Given the description of an element on the screen output the (x, y) to click on. 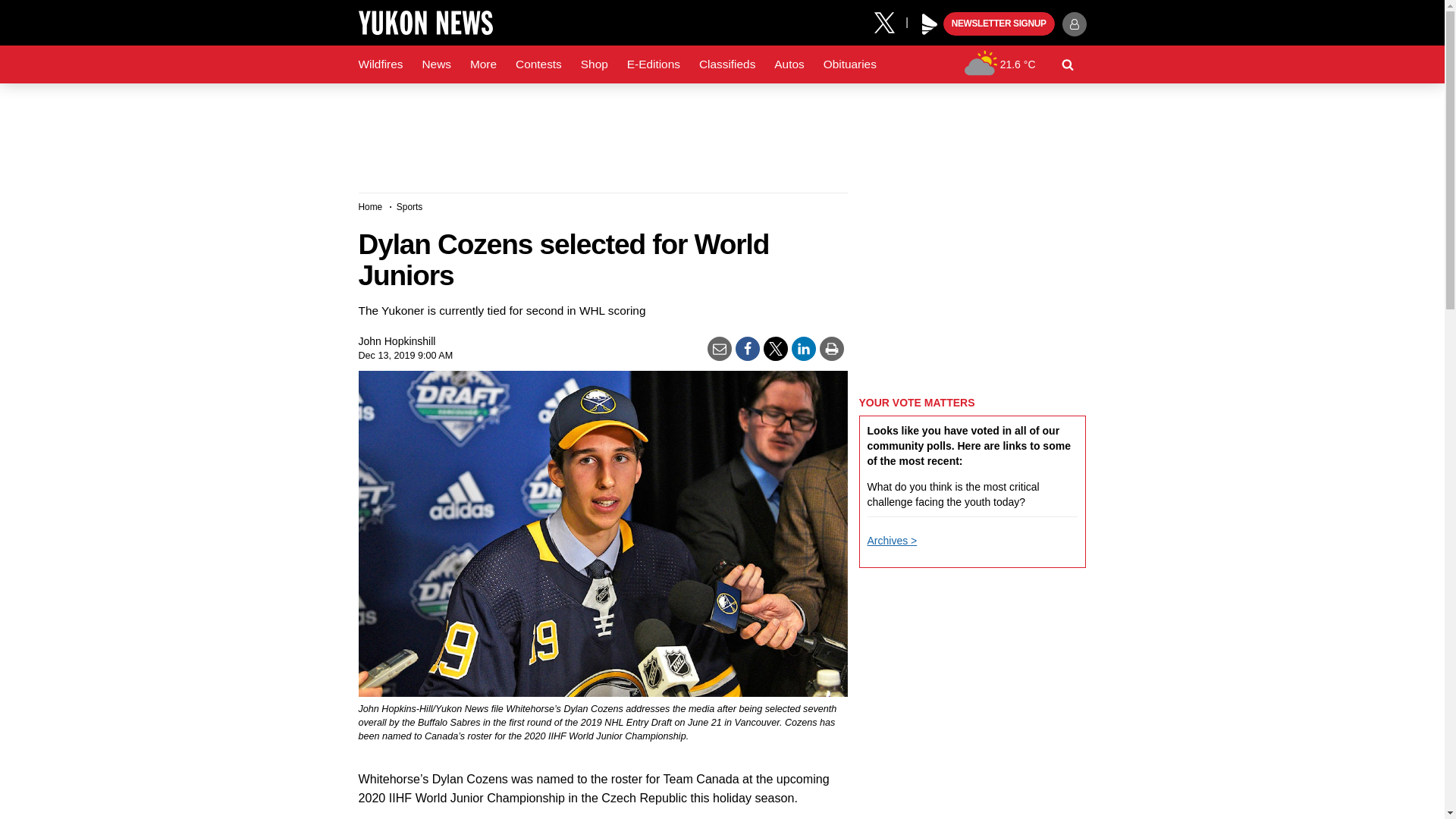
Wildfires (380, 64)
News (435, 64)
X (889, 21)
NEWSLETTER SIGNUP (998, 24)
Play (929, 24)
Black Press Media (929, 24)
